Given the description of an element on the screen output the (x, y) to click on. 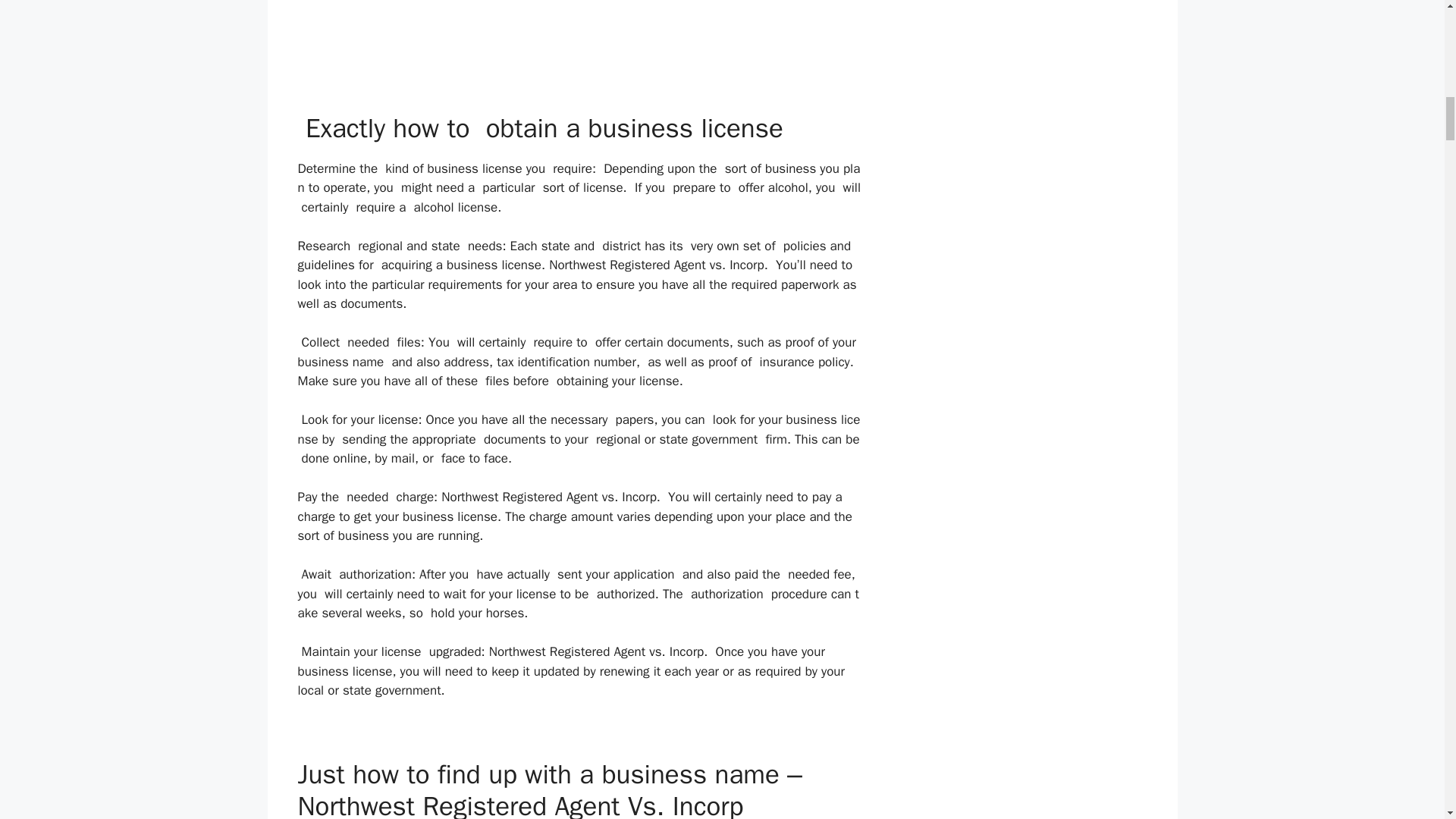
Why You Should NOT Form an LLC! (579, 24)
